Given the description of an element on the screen output the (x, y) to click on. 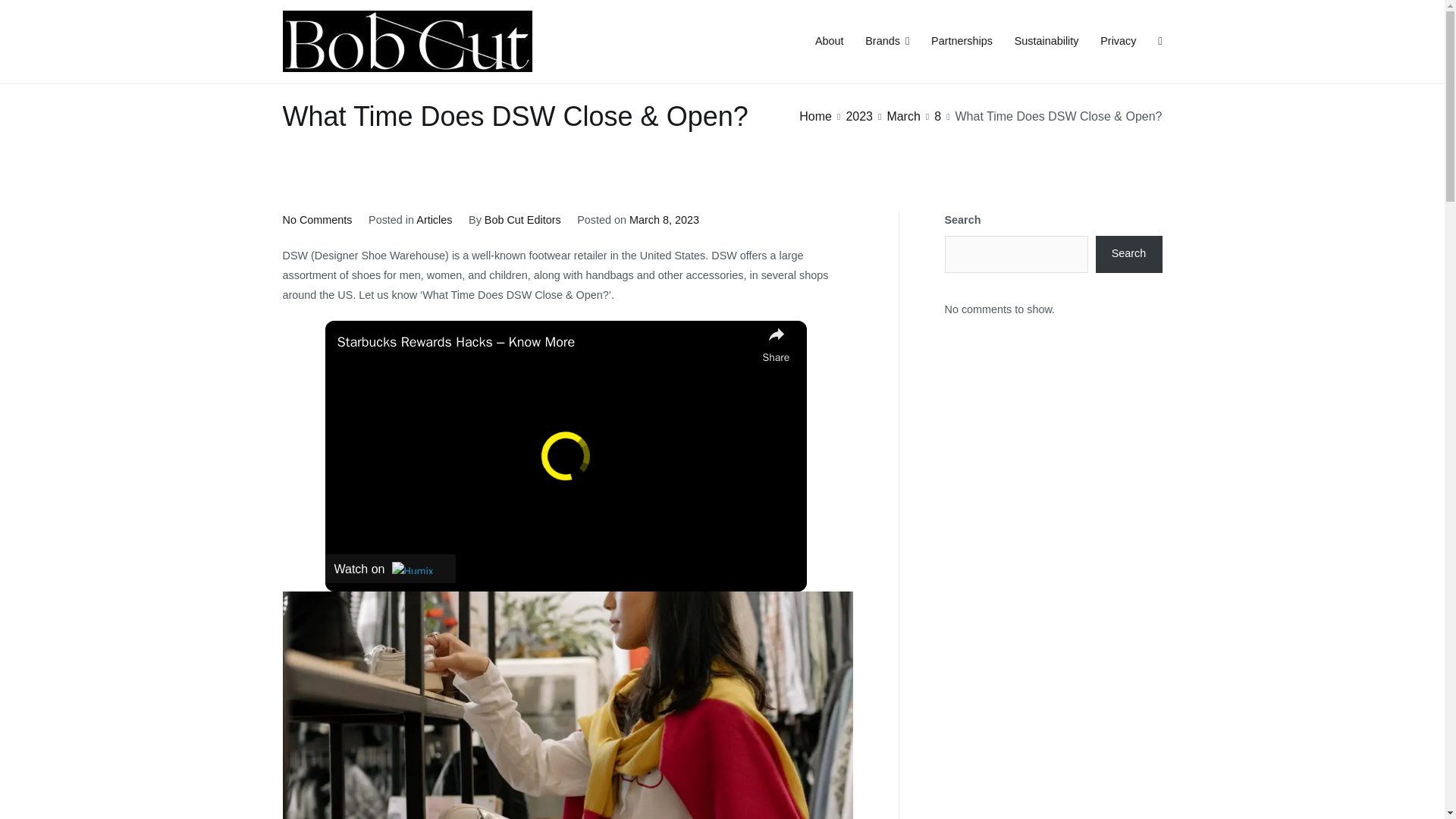
Articles (433, 219)
March 8, 2023 (663, 219)
About (829, 41)
Partnerships (961, 41)
Sustainability (1046, 41)
March (903, 115)
Privacy (1117, 41)
Home (815, 115)
Search (28, 13)
Bob Cut Editors (522, 219)
Brands (886, 41)
Bob Cut Magazine (606, 51)
2023 (858, 115)
